Given the description of an element on the screen output the (x, y) to click on. 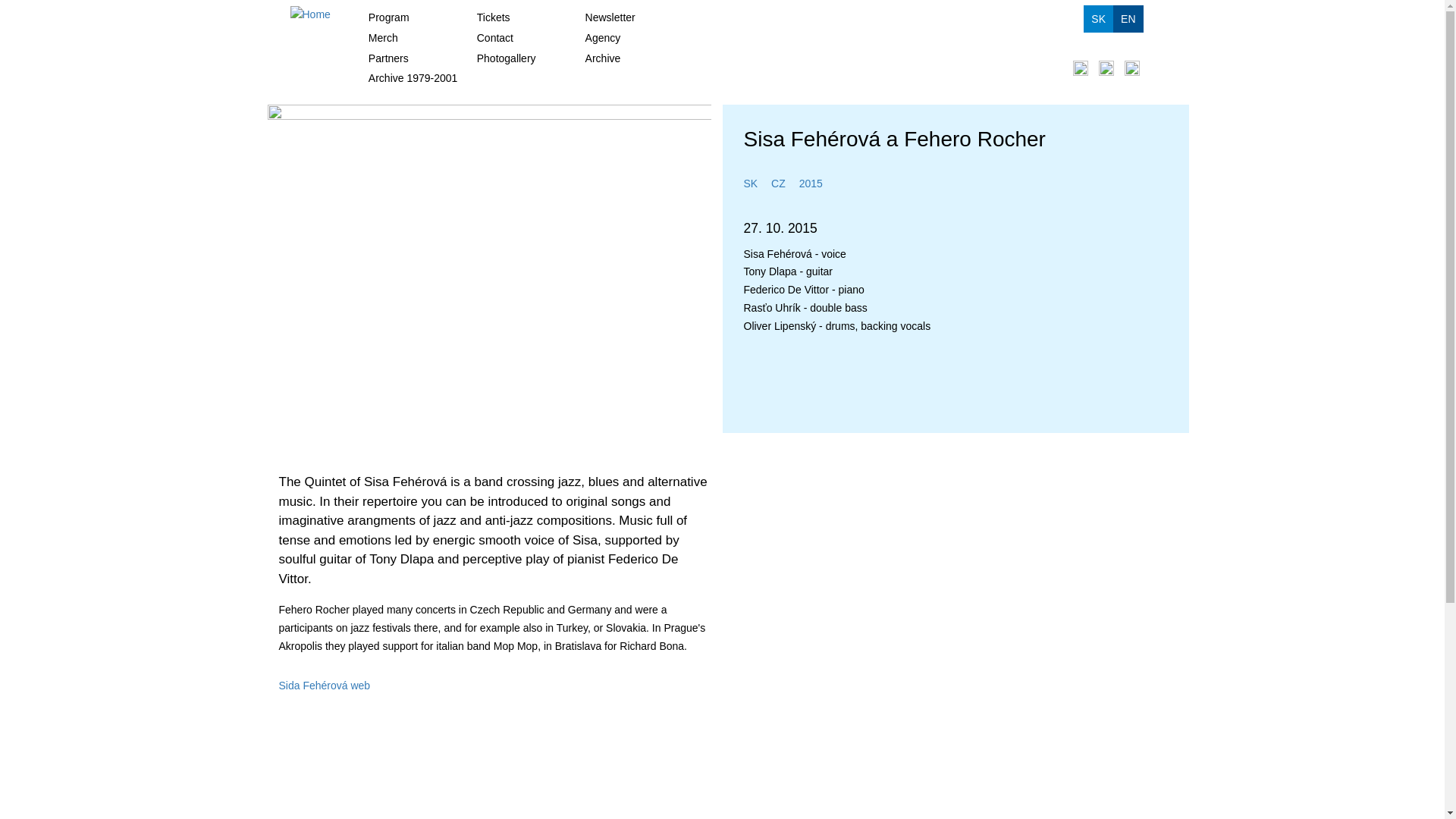
Program (383, 17)
EN (1127, 18)
Archive (635, 58)
Agency (635, 37)
Archive 1979-2001 (419, 77)
SK (1098, 18)
2015 (810, 183)
Merch (419, 37)
Partners (419, 58)
Contact (526, 37)
